Given the description of an element on the screen output the (x, y) to click on. 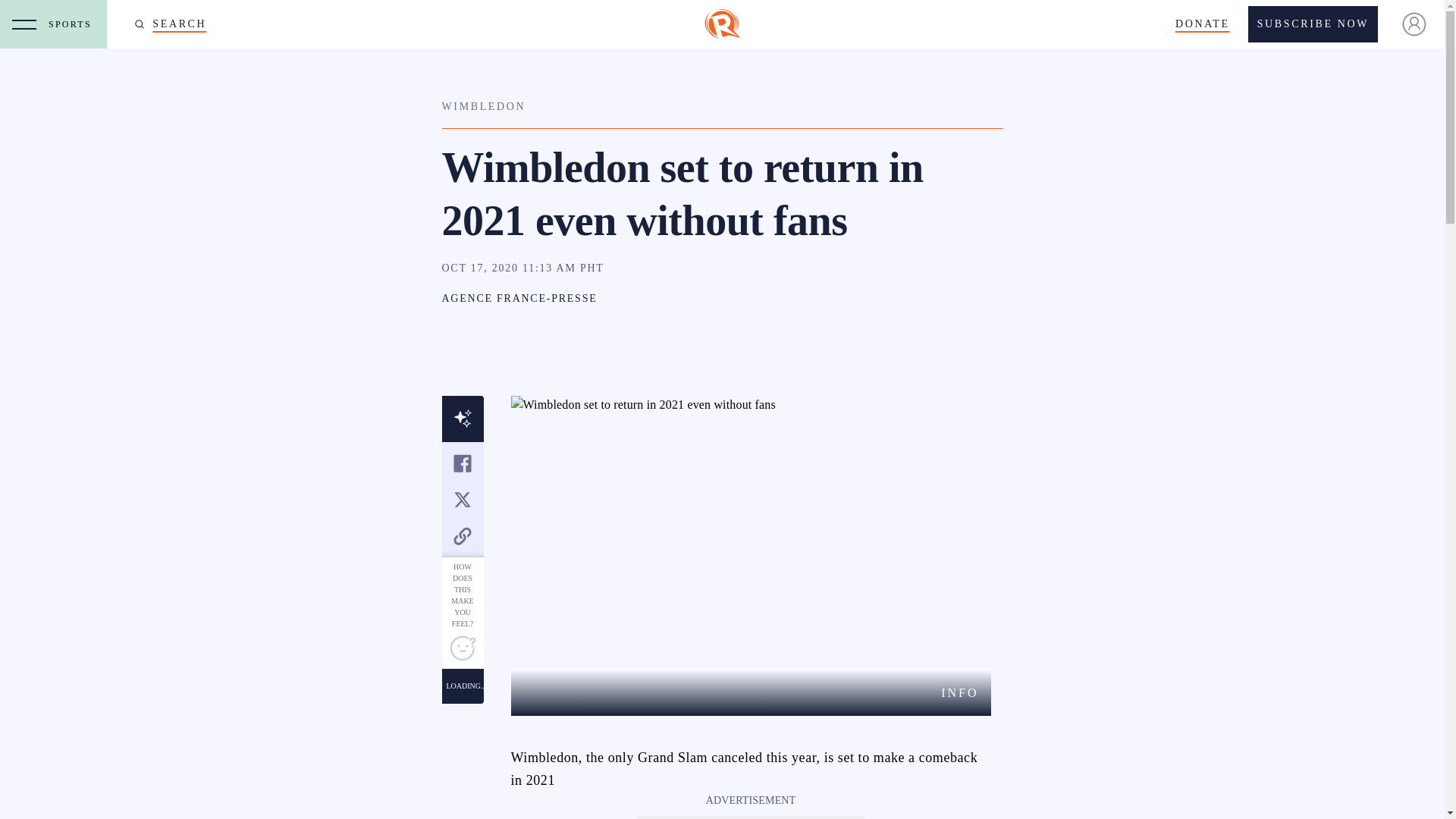
SPORTS (73, 23)
OPEN NAVIGATION (24, 24)
